Given the description of an element on the screen output the (x, y) to click on. 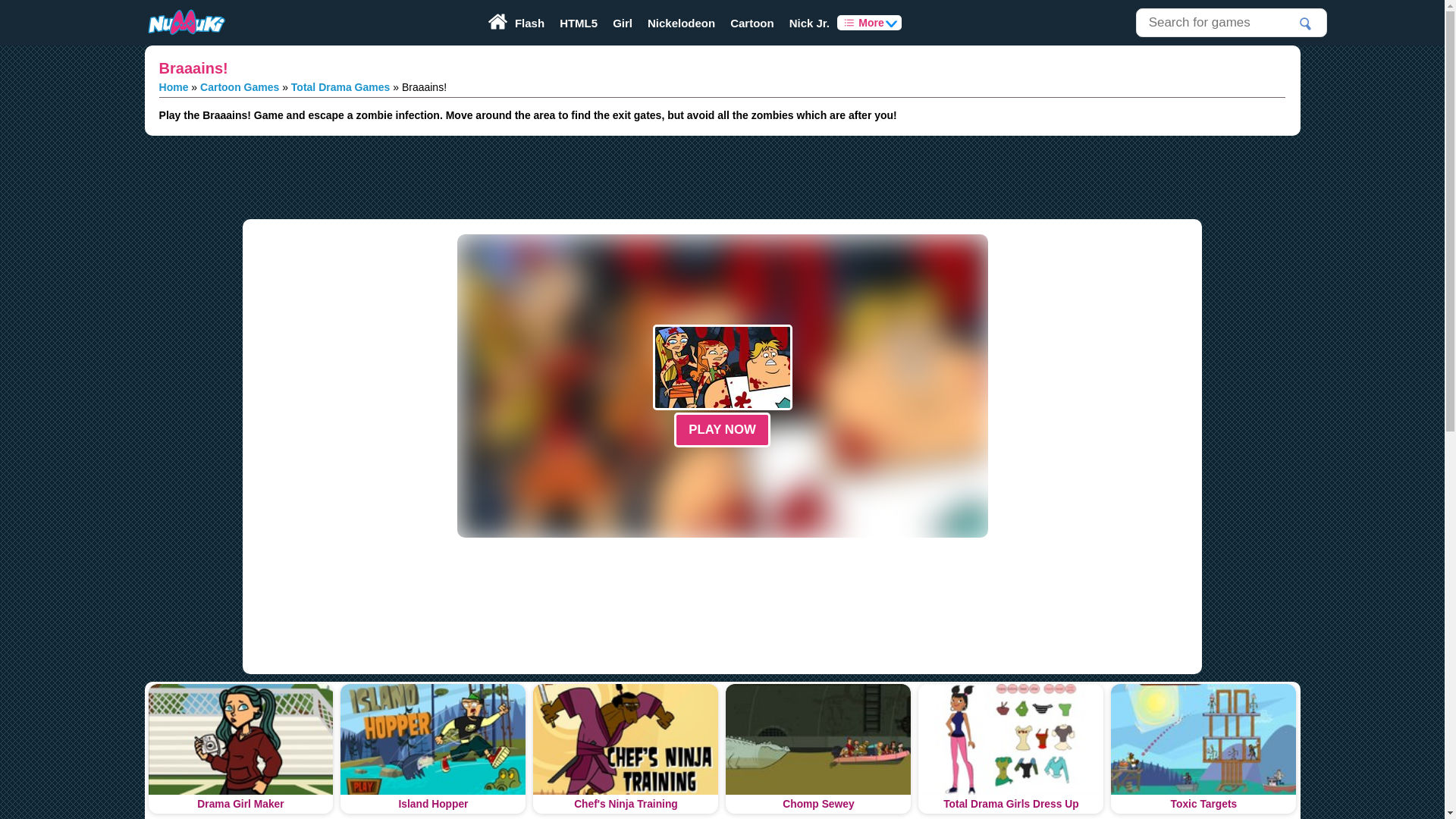
Nick Jr. Games (809, 22)
More (869, 22)
Girl (622, 22)
Play Fun Browser Games (185, 22)
HTML5 (578, 22)
Nickelodeon (681, 22)
Cartoon Games (239, 87)
Home (173, 87)
Cartoon (751, 22)
Nickelodeon Games (681, 22)
